Given the description of an element on the screen output the (x, y) to click on. 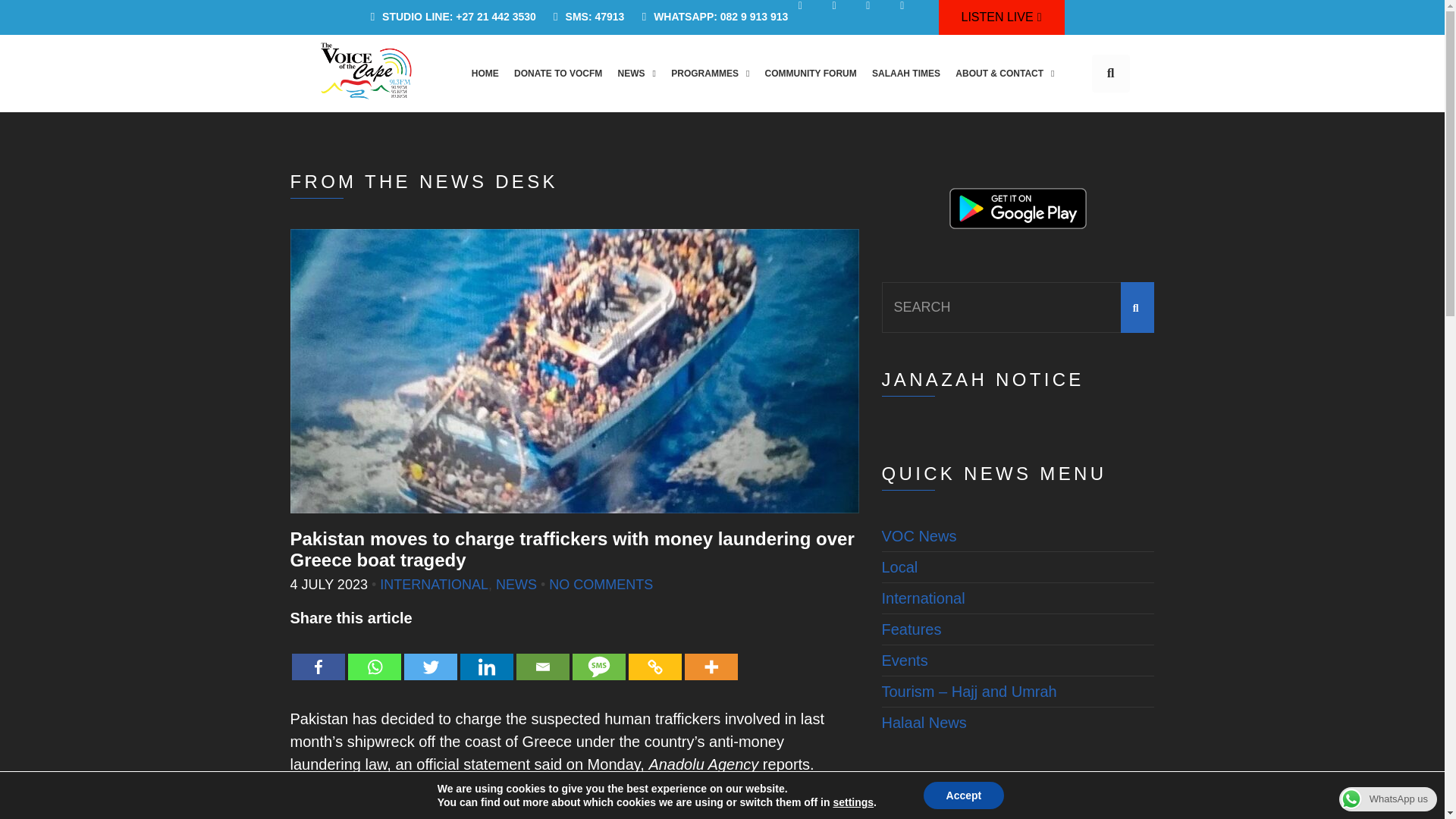
SALAAH TIMES (905, 73)
COMMUNITY FORUM (810, 73)
NEWS (636, 73)
PROGRAMMES (709, 73)
Facebook (317, 655)
LISTEN LIVE (1001, 17)
DONATE TO VOCFM (558, 73)
Copy Link (654, 655)
Email (542, 655)
HOME (484, 73)
WHATSAPP: 082 9 913 913 (709, 17)
SMS (598, 655)
Whatsapp (373, 655)
More (710, 655)
Linkedin (486, 655)
